Given the description of an element on the screen output the (x, y) to click on. 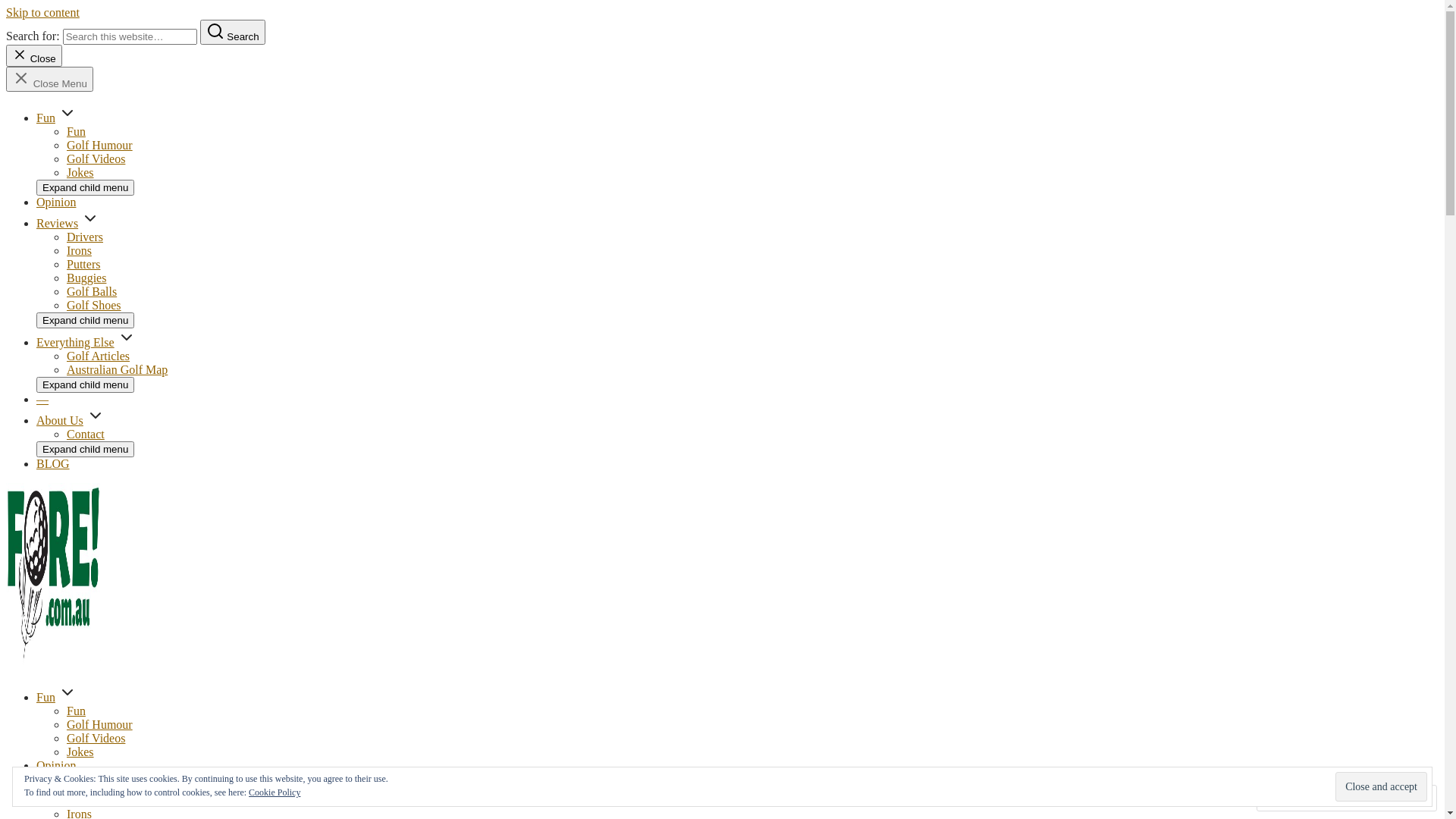
Reviews Element type: text (57, 786)
Putters Element type: text (83, 263)
Fun Element type: text (45, 117)
Close and accept Element type: text (1381, 786)
Search for: Element type: hover (129, 36)
Fun Element type: text (75, 131)
Golf Humour Element type: text (99, 724)
Drivers Element type: text (84, 799)
Jokes Element type: text (80, 751)
Drivers Element type: text (84, 236)
Close Menu Element type: text (49, 78)
Skip to content Element type: text (42, 12)
Jokes Element type: text (80, 172)
Golf Videos Element type: text (95, 737)
Australian Golf Map Element type: text (116, 369)
Golf Shoes Element type: text (93, 304)
Expand child menu Element type: text (85, 384)
Close Element type: text (34, 55)
Reviews Element type: text (57, 222)
About Us Element type: text (59, 420)
Golf Videos Element type: text (95, 158)
fore Element type: text (15, 689)
Contact Element type: text (85, 433)
Buggies Element type: text (86, 277)
Golf Humour Element type: text (99, 144)
Expand child menu Element type: text (85, 449)
Fun Element type: text (75, 710)
Expand child menu Element type: text (85, 187)
Search Element type: text (232, 31)
Golf Balls Element type: text (91, 291)
Golf Articles Element type: text (97, 355)
Follow Element type: text (1373, 797)
Everything Else Element type: text (75, 341)
BLOG Element type: text (52, 463)
Opinion Element type: text (55, 201)
Fun Element type: text (45, 696)
Comment Element type: text (1297, 797)
Opinion Element type: text (55, 765)
Irons Element type: text (78, 250)
Cookie Policy Element type: text (274, 792)
Expand child menu Element type: text (85, 320)
